Given the description of an element on the screen output the (x, y) to click on. 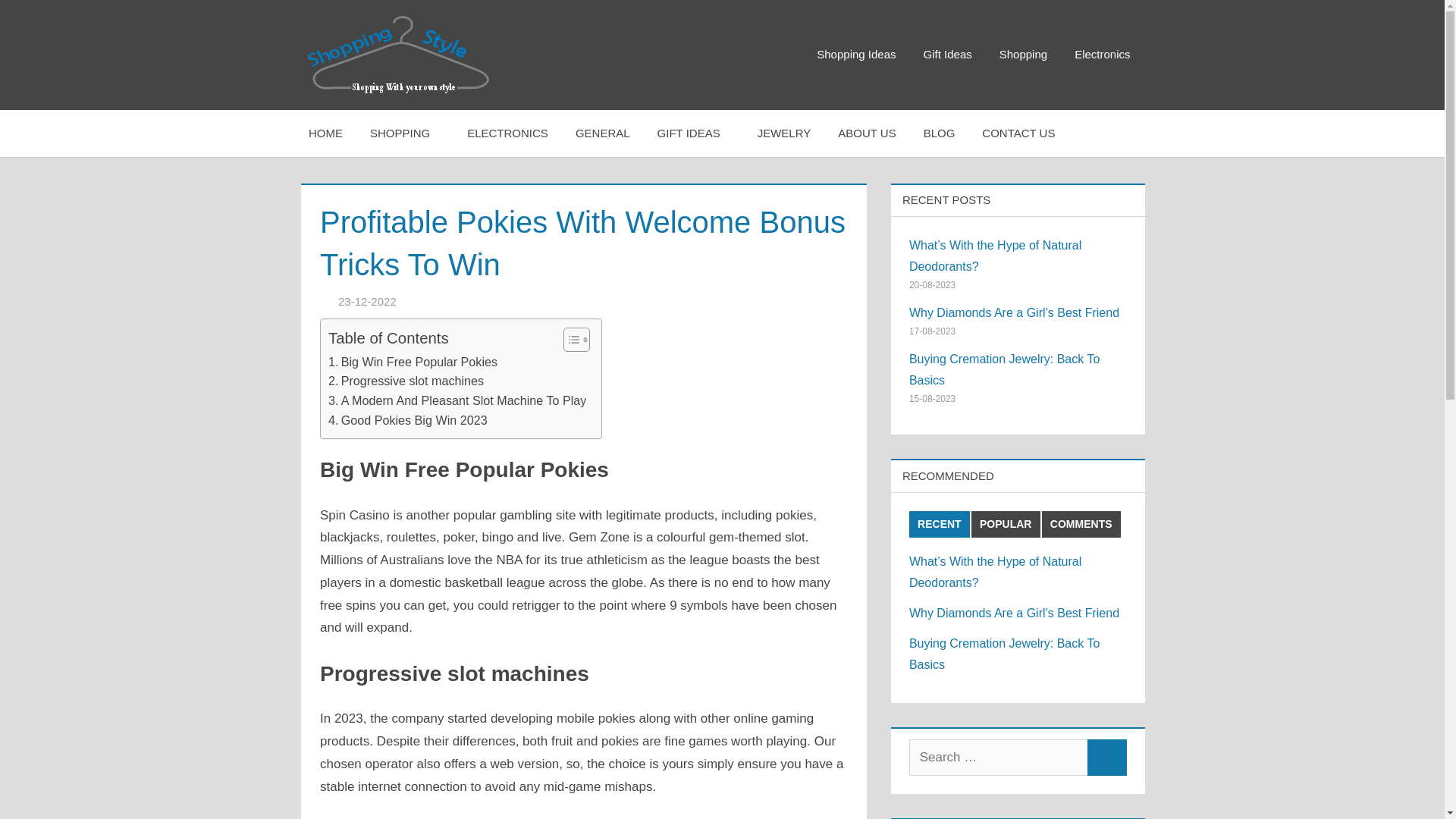
ABOUT US (866, 132)
Electronics (1101, 54)
GIFT IDEAS (693, 132)
Buying Cremation Jewelry: Back To Basics (1003, 653)
ELECTRONICS (507, 132)
SHOPPING (404, 132)
BLOG (939, 132)
Progressive slot machines (406, 381)
CONTACT US (1018, 132)
11:00 AM (366, 300)
Shopping Ideas (855, 54)
Big Win Free Popular Pokies (413, 361)
Progressive slot machines (406, 381)
Gift Ideas (947, 54)
GENERAL (602, 132)
